Given the description of an element on the screen output the (x, y) to click on. 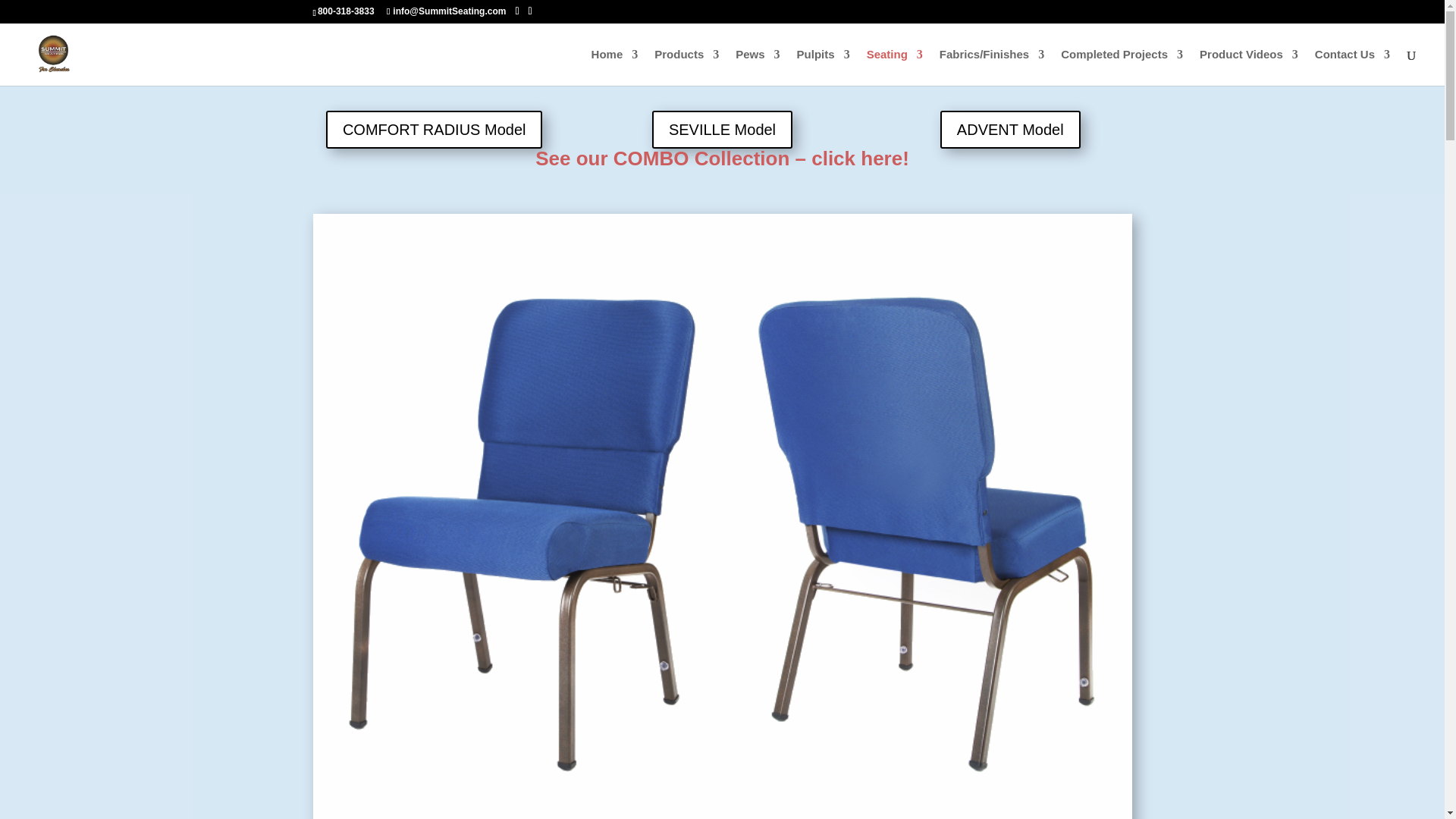
Pulpits (823, 67)
Pews (756, 67)
Seating (894, 67)
Home (615, 67)
Products (686, 67)
